Given the description of an element on the screen output the (x, y) to click on. 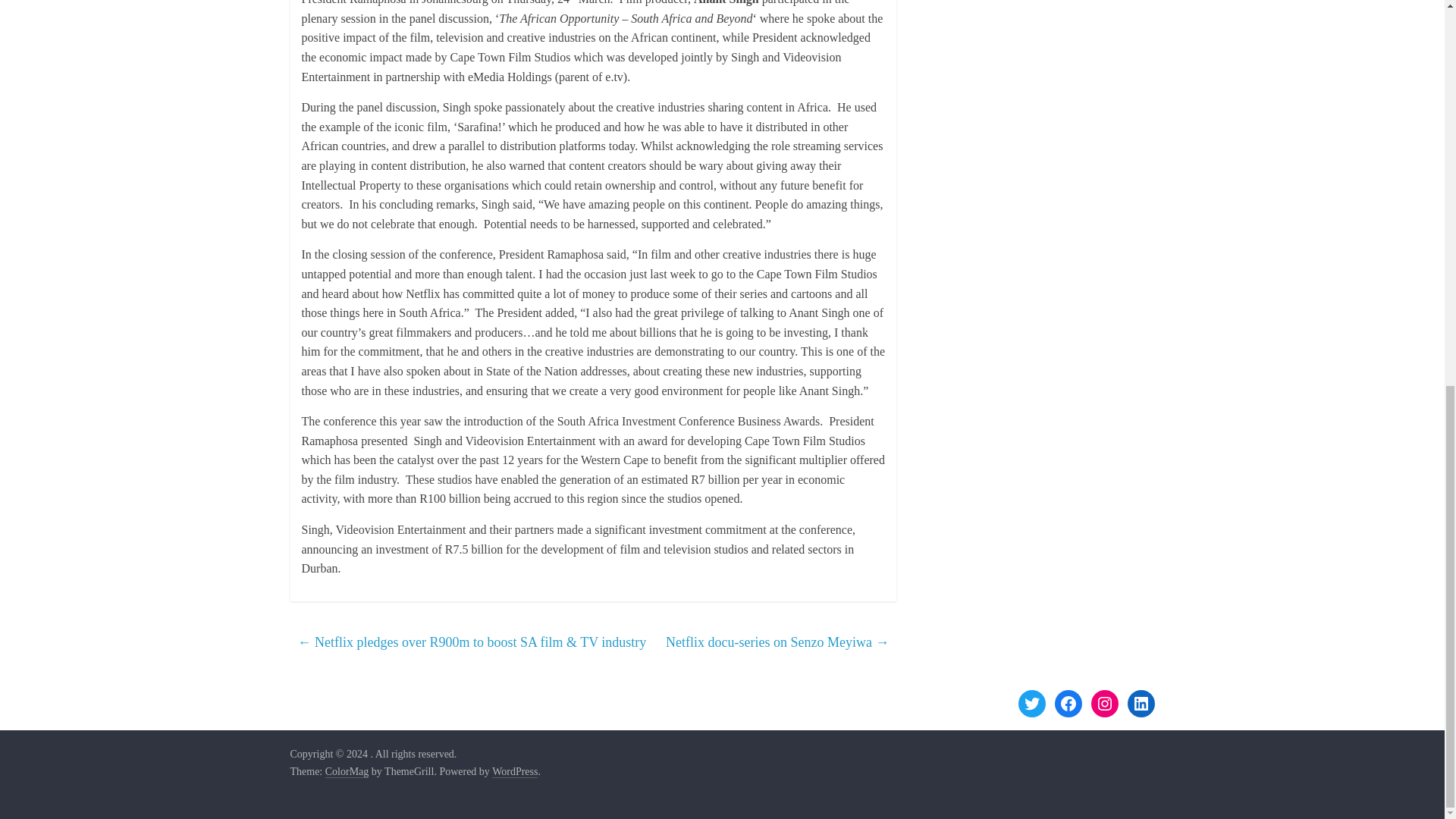
ColorMag (346, 771)
Twitter (1031, 703)
Facebook (1067, 703)
WordPress (514, 771)
